Given the description of an element on the screen output the (x, y) to click on. 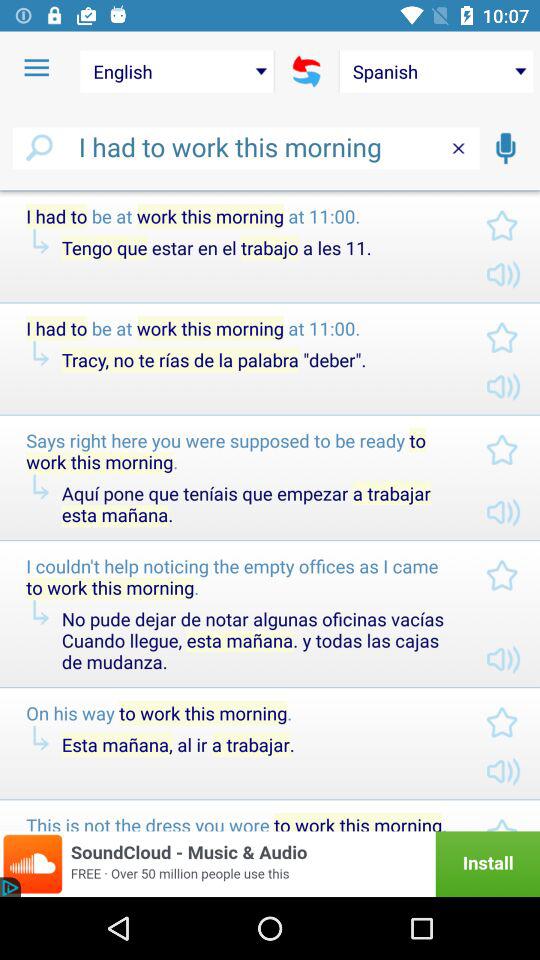
choose the icon below the spanish (505, 148)
